Given the description of an element on the screen output the (x, y) to click on. 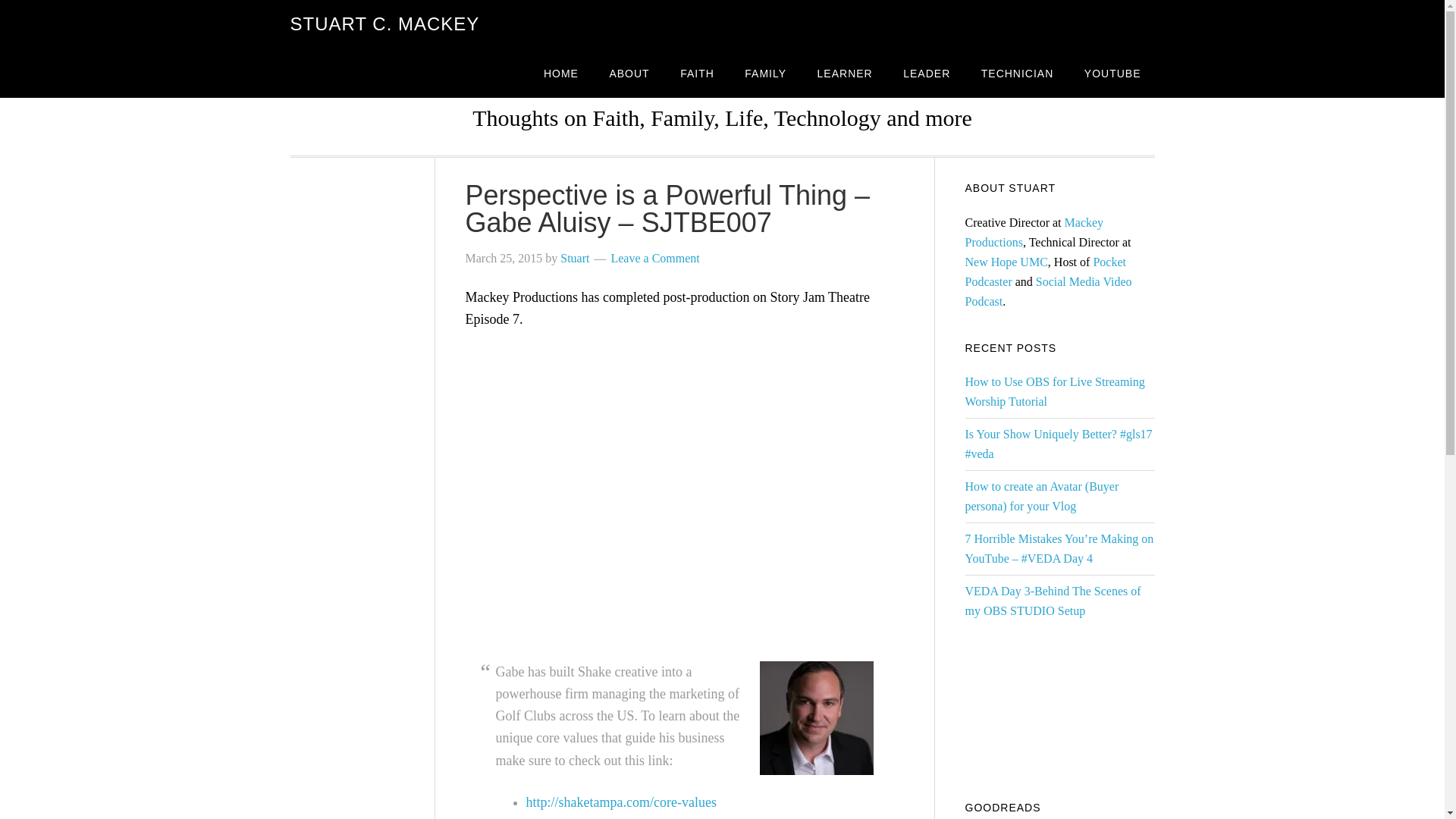
FAITH (697, 72)
Stuart (574, 257)
TECHNICIAN (1017, 72)
How to Use OBS for Live Streaming Worship Tutorial (1053, 391)
ABOUT (628, 72)
STUART C. MACKEY (384, 23)
YOUTUBE (1112, 72)
FAMILY (764, 72)
Pocket Podcaster (1044, 271)
Mackey Productions (1033, 232)
LEADER (926, 72)
Leave a Comment (654, 257)
HOME (560, 72)
LEARNER (844, 72)
New Hope UMC (1004, 261)
